Given the description of an element on the screen output the (x, y) to click on. 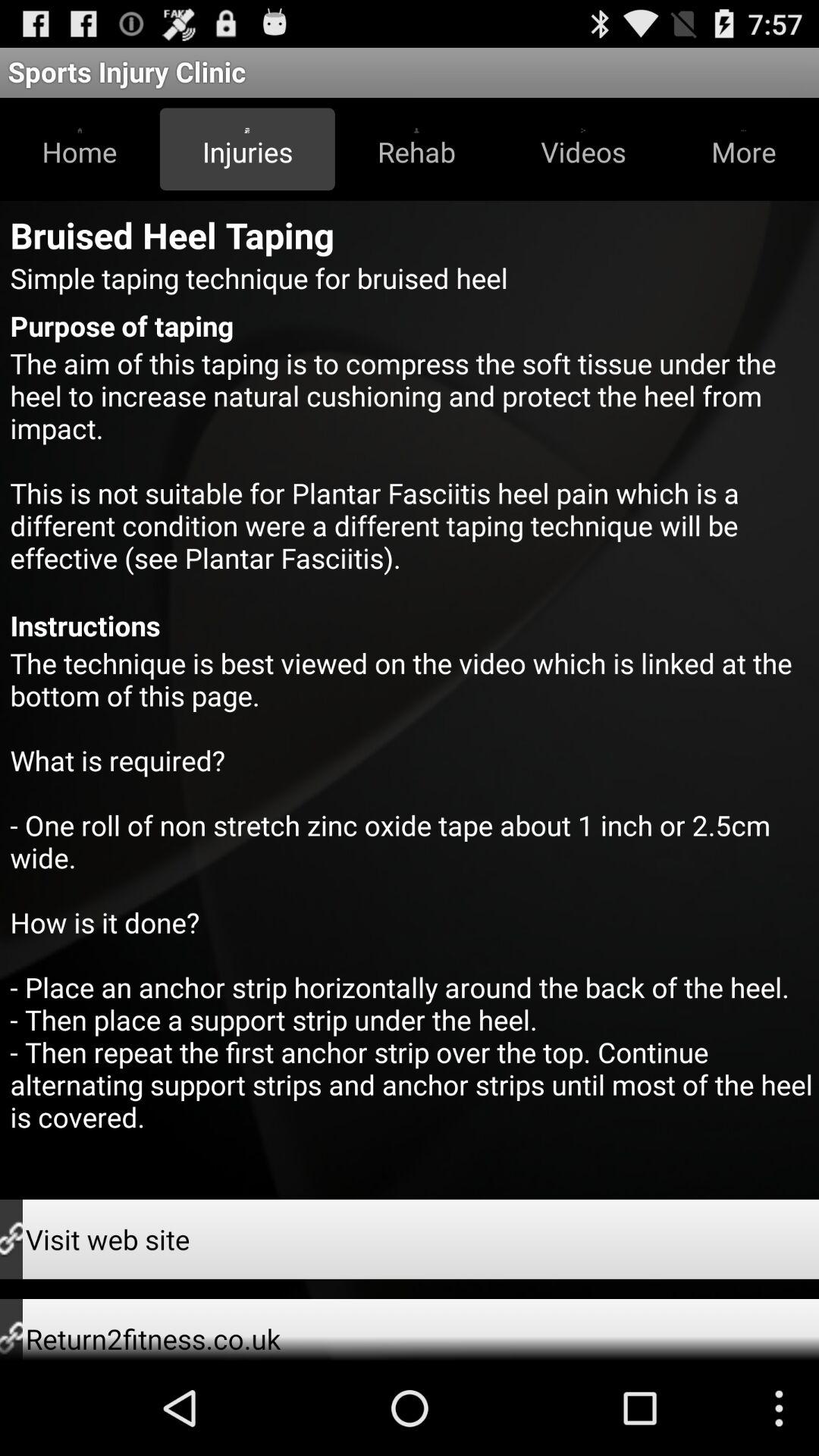
select item to the left of the rehab (246, 149)
